Given the description of an element on the screen output the (x, y) to click on. 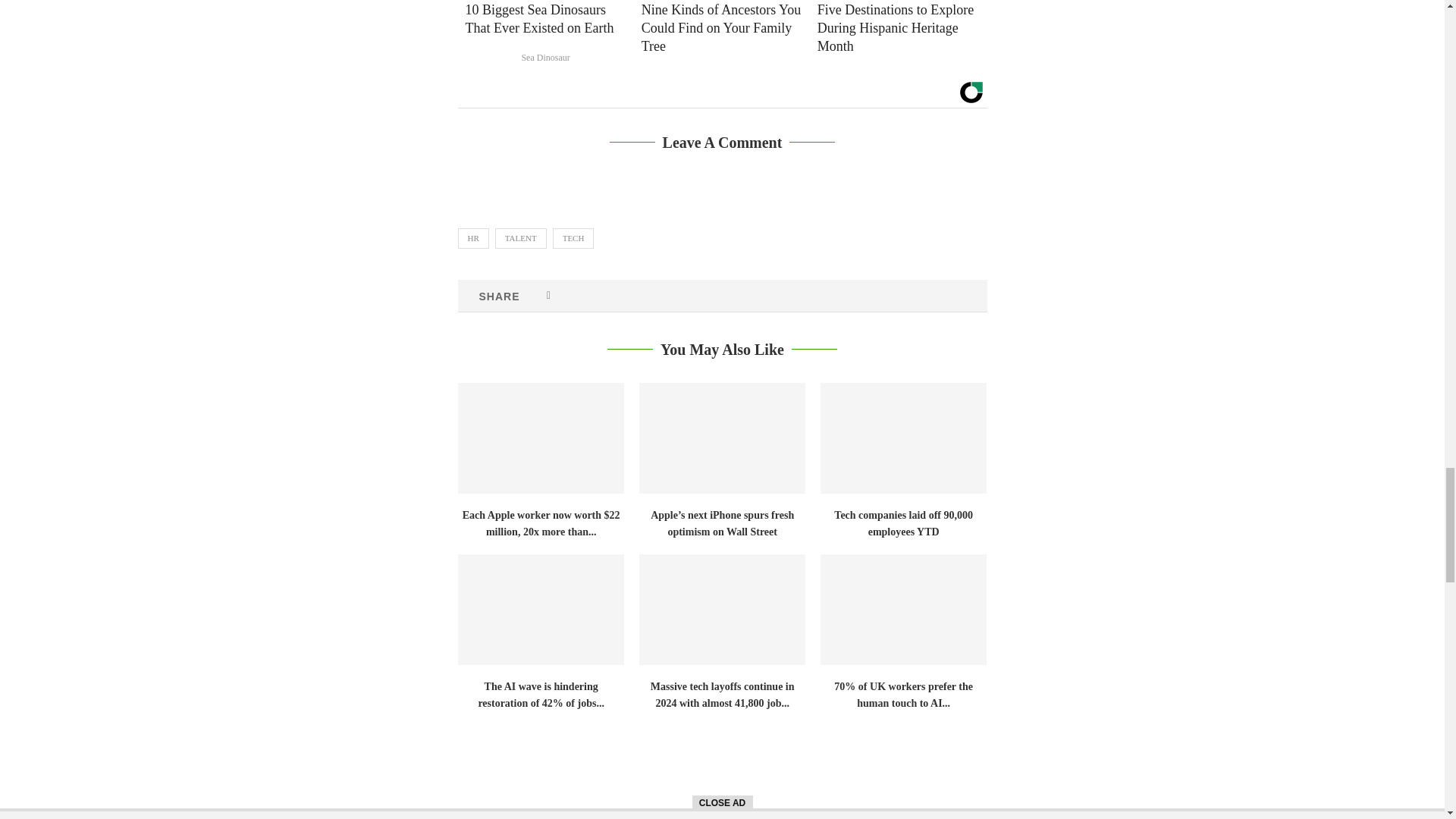
Tech companies laid off 90,000 employees YTD (904, 438)
